Given the description of an element on the screen output the (x, y) to click on. 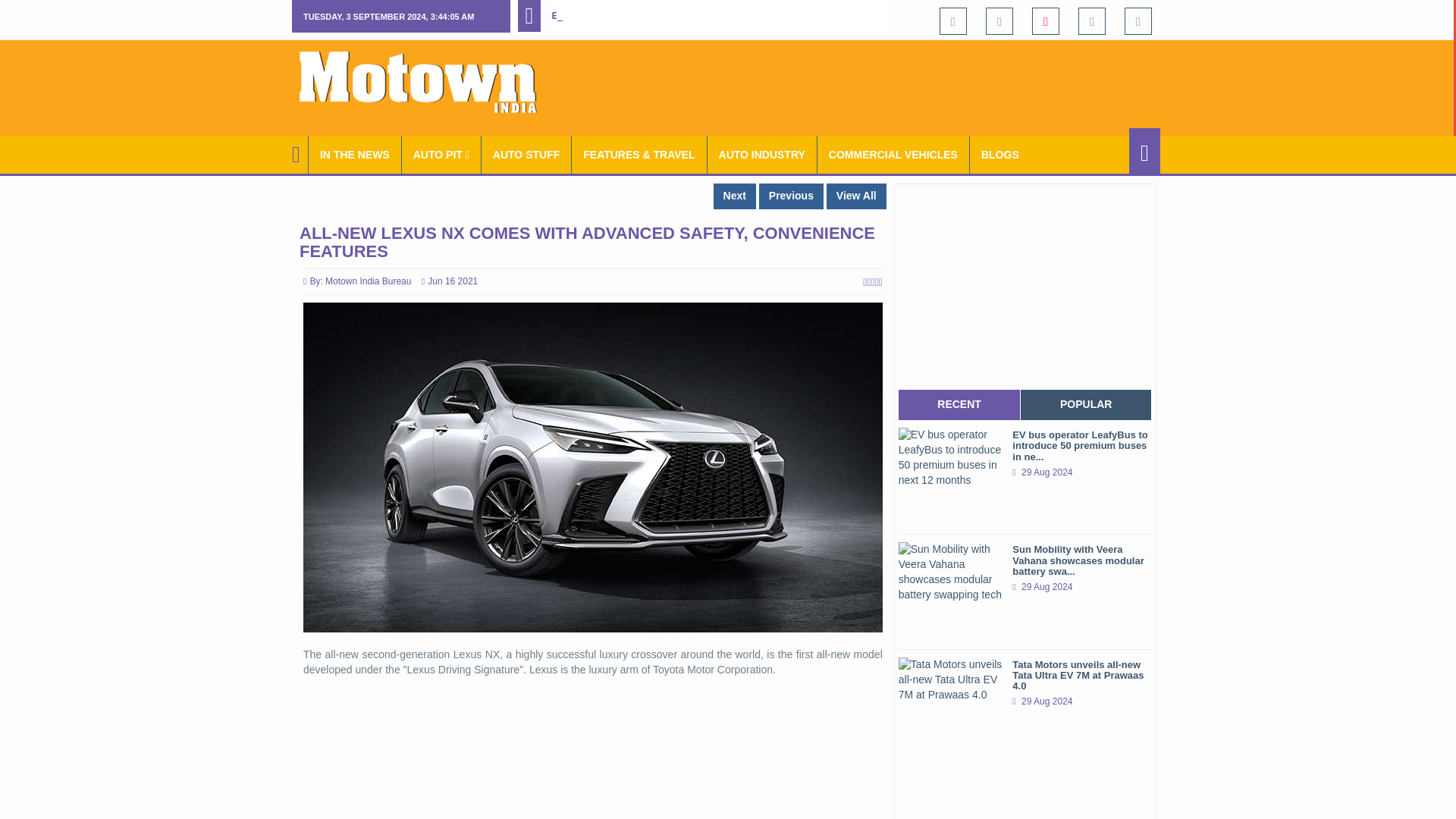
Motown India on Instagram (1091, 21)
Next (734, 196)
MotownIndia (427, 81)
View All - Motown India (856, 196)
IN THE NEWS (354, 154)
BLOGS (999, 154)
Previous (791, 196)
Motown India on Twitter (999, 21)
COMMERCIAL VEHICLES by Motown India (892, 154)
